Given the description of an element on the screen output the (x, y) to click on. 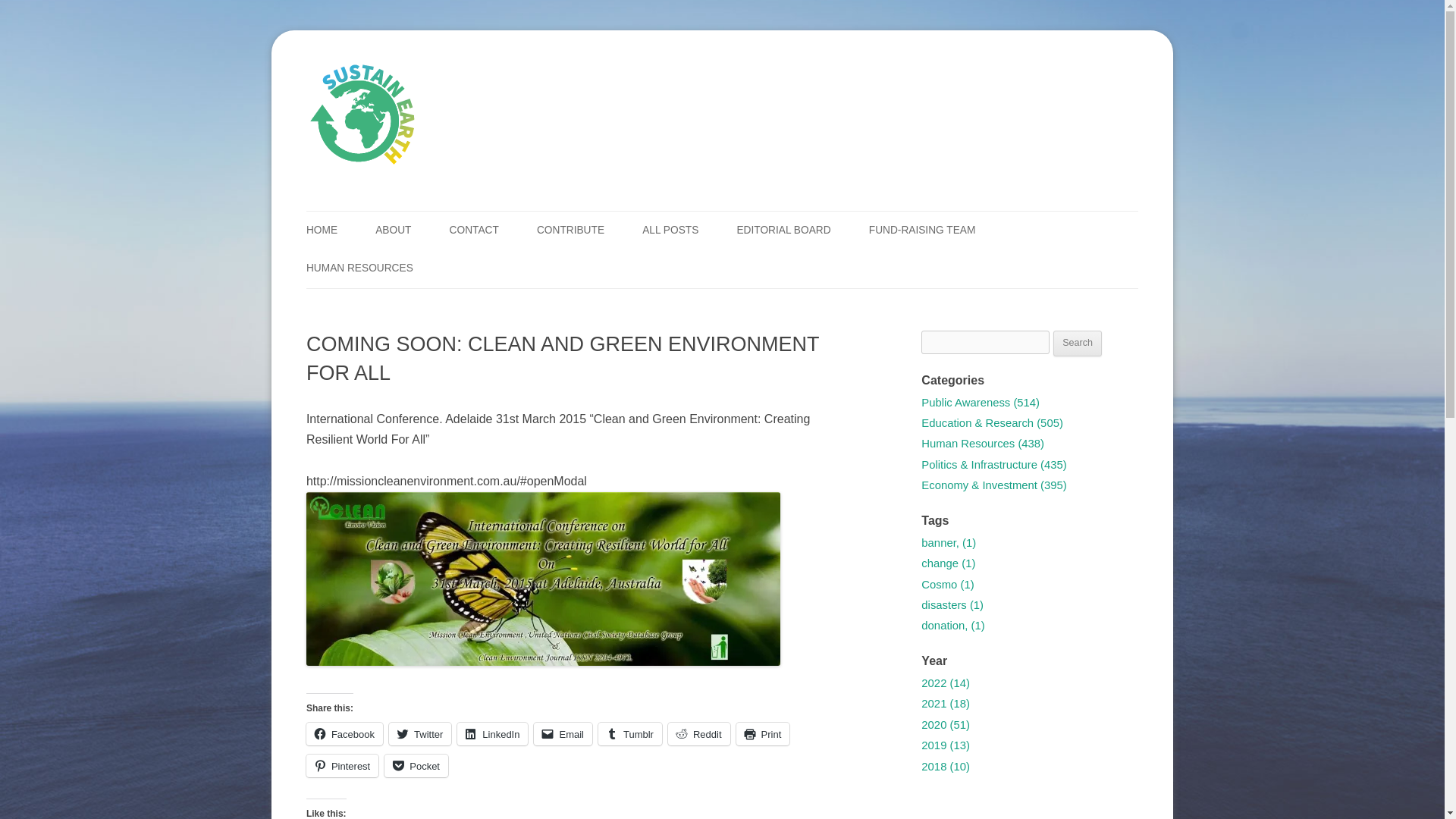
Skip to content (762, 216)
Click to share on Pinterest (341, 765)
Email (563, 733)
Reddit (699, 733)
Click to share on Reddit (699, 733)
Click to share on Twitter (419, 733)
Tumblr (630, 733)
ABOUT (392, 230)
Pocket (416, 765)
EDITORIAL BOARD (782, 230)
Click to share on Pocket (416, 765)
Click to email a link to a friend (563, 733)
Click to share on Tumblr (630, 733)
Click to share on Facebook (343, 733)
HUMAN RESOURCES (359, 268)
